Given the description of an element on the screen output the (x, y) to click on. 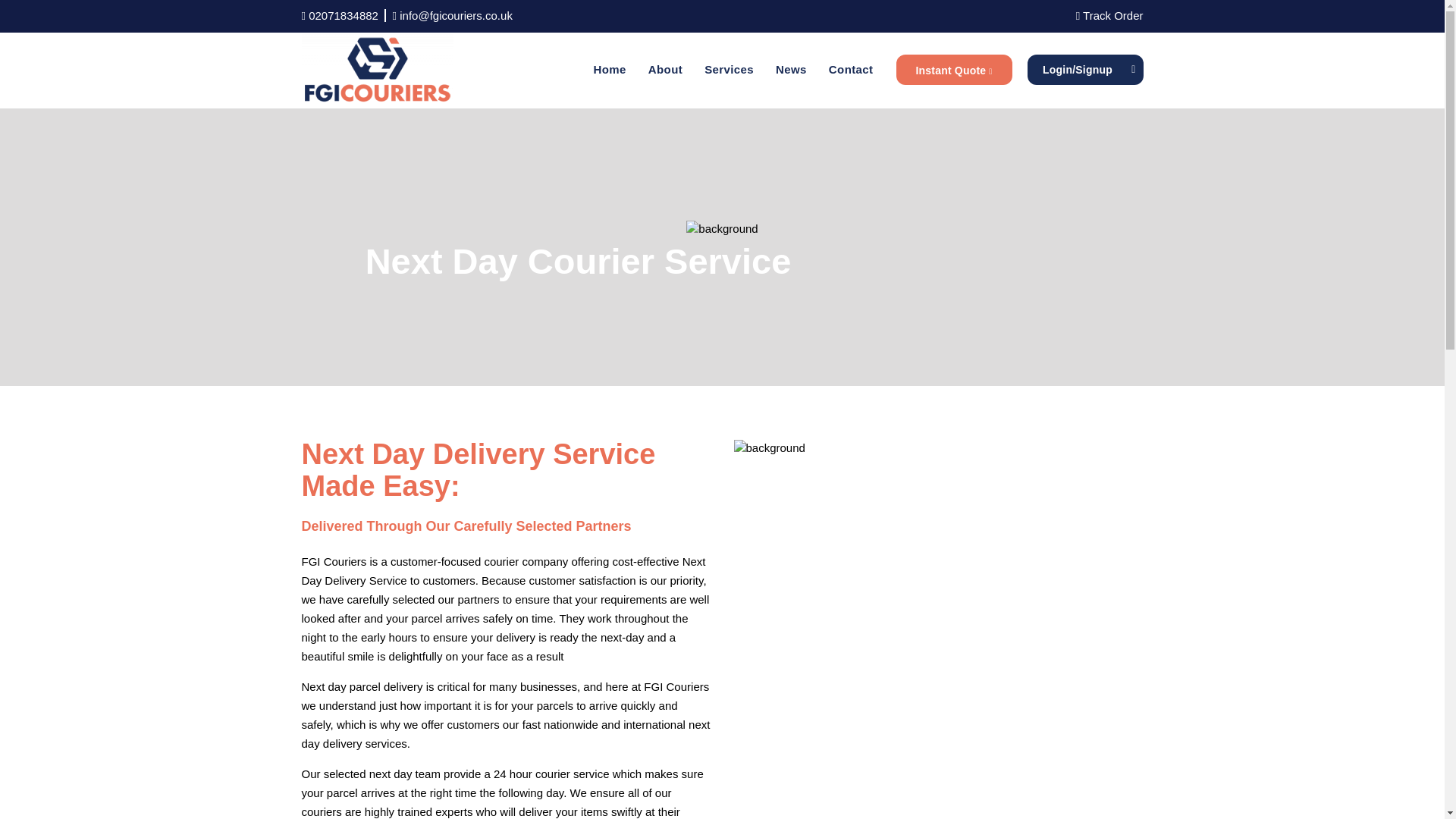
 Track Order (1108, 15)
 02071834882   (344, 15)
Instant Quote (953, 69)
